Given the description of an element on the screen output the (x, y) to click on. 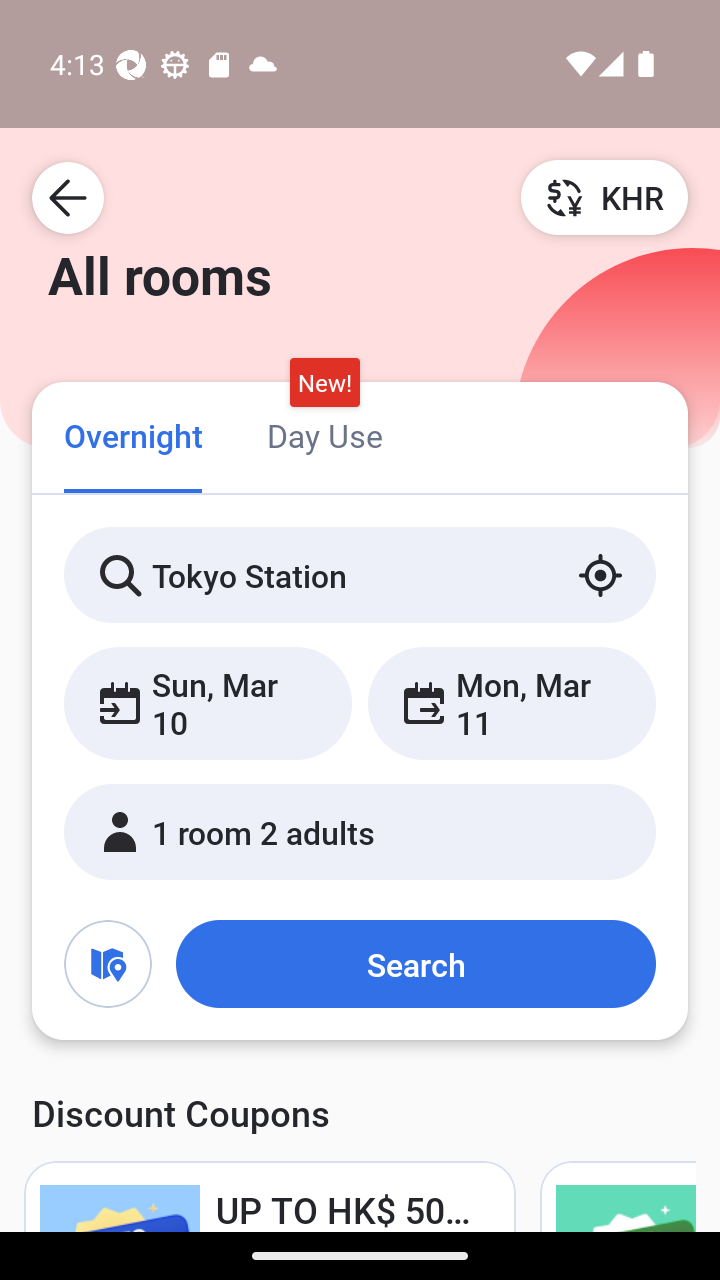
KHR (604, 197)
New! (324, 383)
Day Use (324, 434)
Tokyo Station (359, 575)
Sun, Mar 10 (208, 703)
Mon, Mar 11 (511, 703)
1 room 2 adults (359, 831)
Search (415, 964)
